Given the description of an element on the screen output the (x, y) to click on. 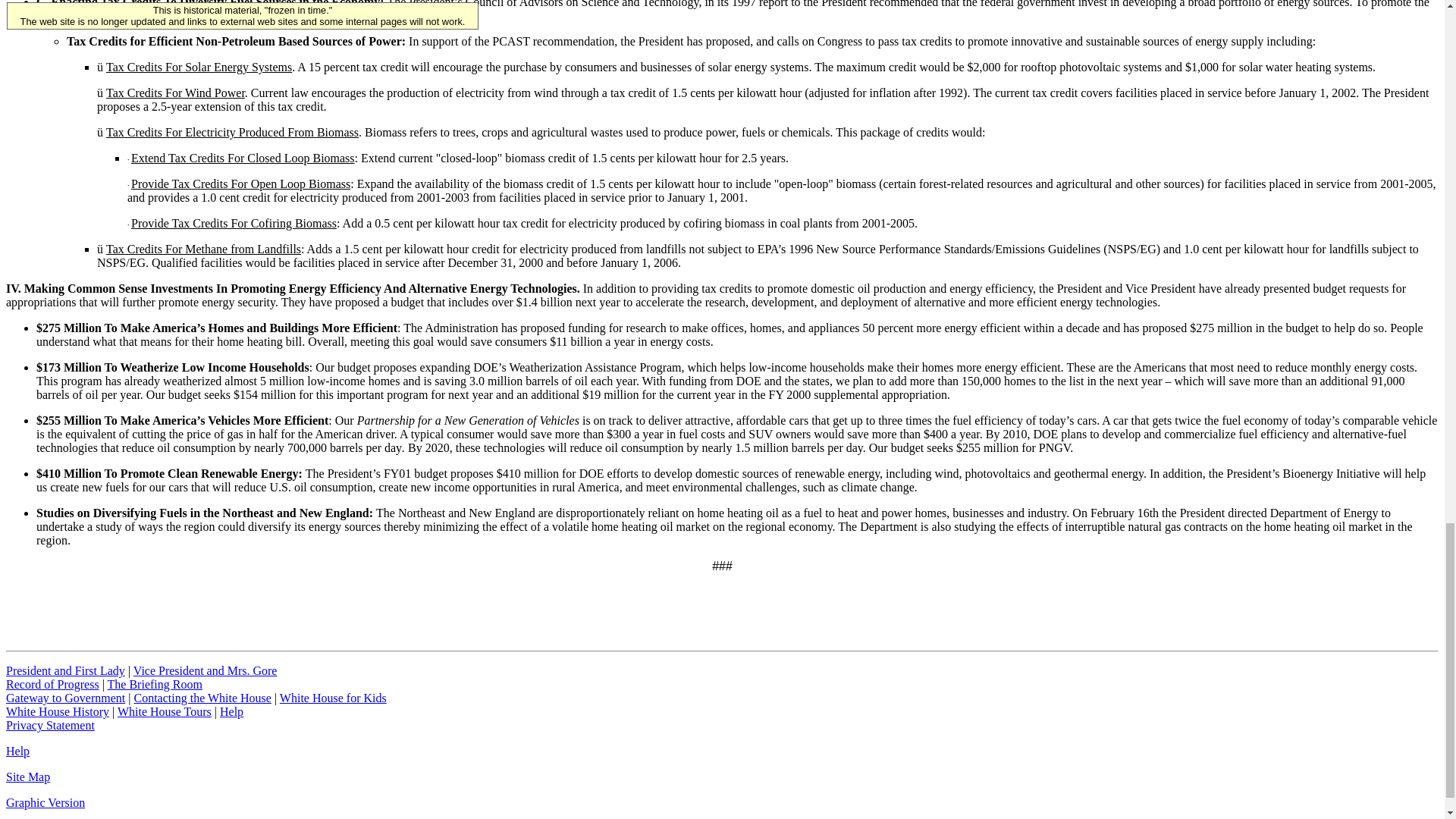
Contacting the White House (201, 697)
White House History (57, 711)
Privacy Statement (49, 725)
Graphic Version (44, 802)
White House Tours (164, 711)
Record of Progress (52, 684)
White House for Kids (333, 697)
Gateway to Government (65, 697)
Vice President and Mrs. Gore (205, 670)
Site Map (27, 776)
